Given the description of an element on the screen output the (x, y) to click on. 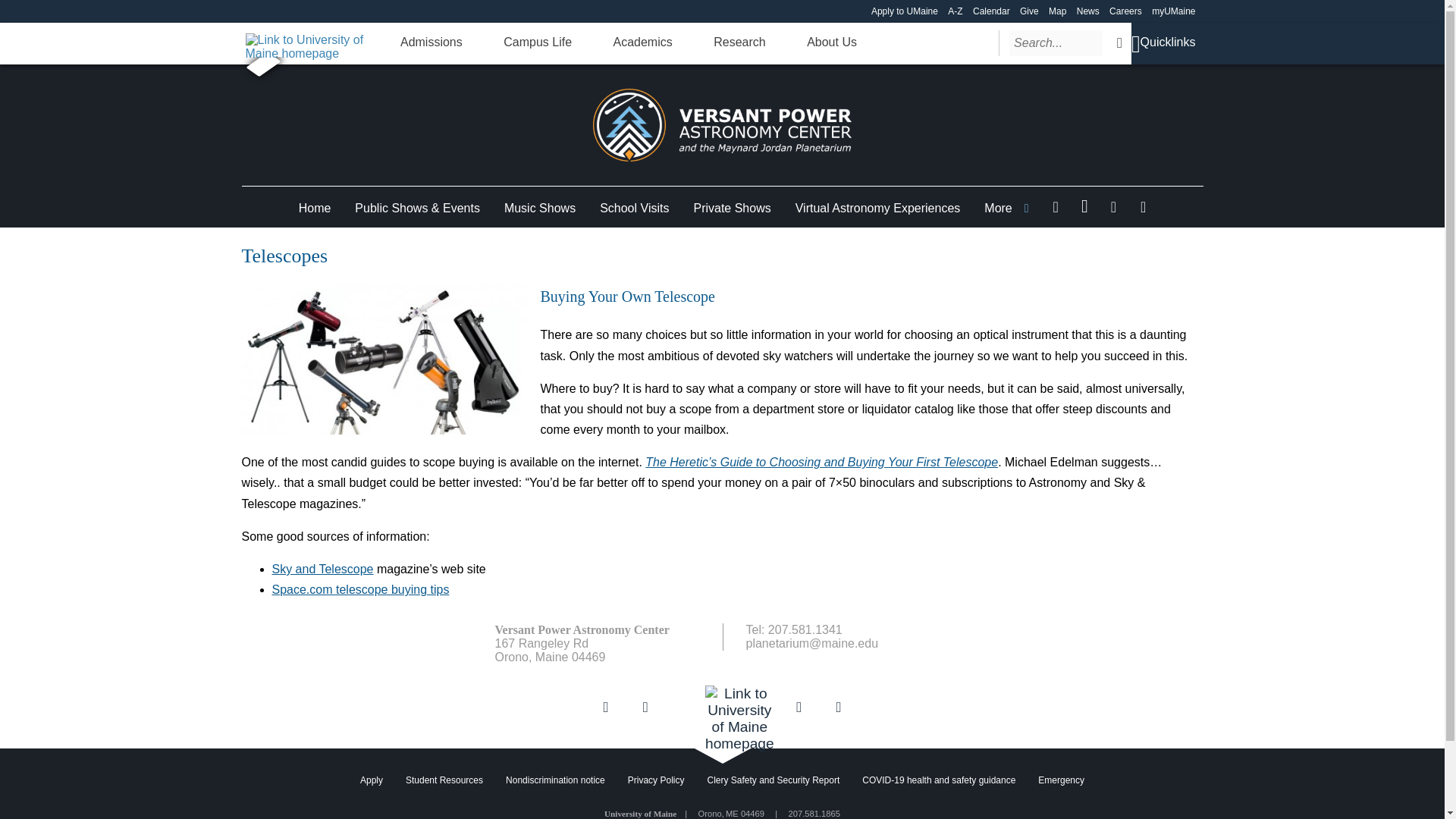
Give (1029, 10)
Admissions (431, 42)
News (1088, 10)
Calendar (991, 10)
Search for: (1055, 43)
A-Z (954, 10)
Careers (1125, 10)
Map (1056, 10)
Search (1119, 42)
Apply to UMaine (903, 10)
myUMaine (1173, 10)
